Given the description of an element on the screen output the (x, y) to click on. 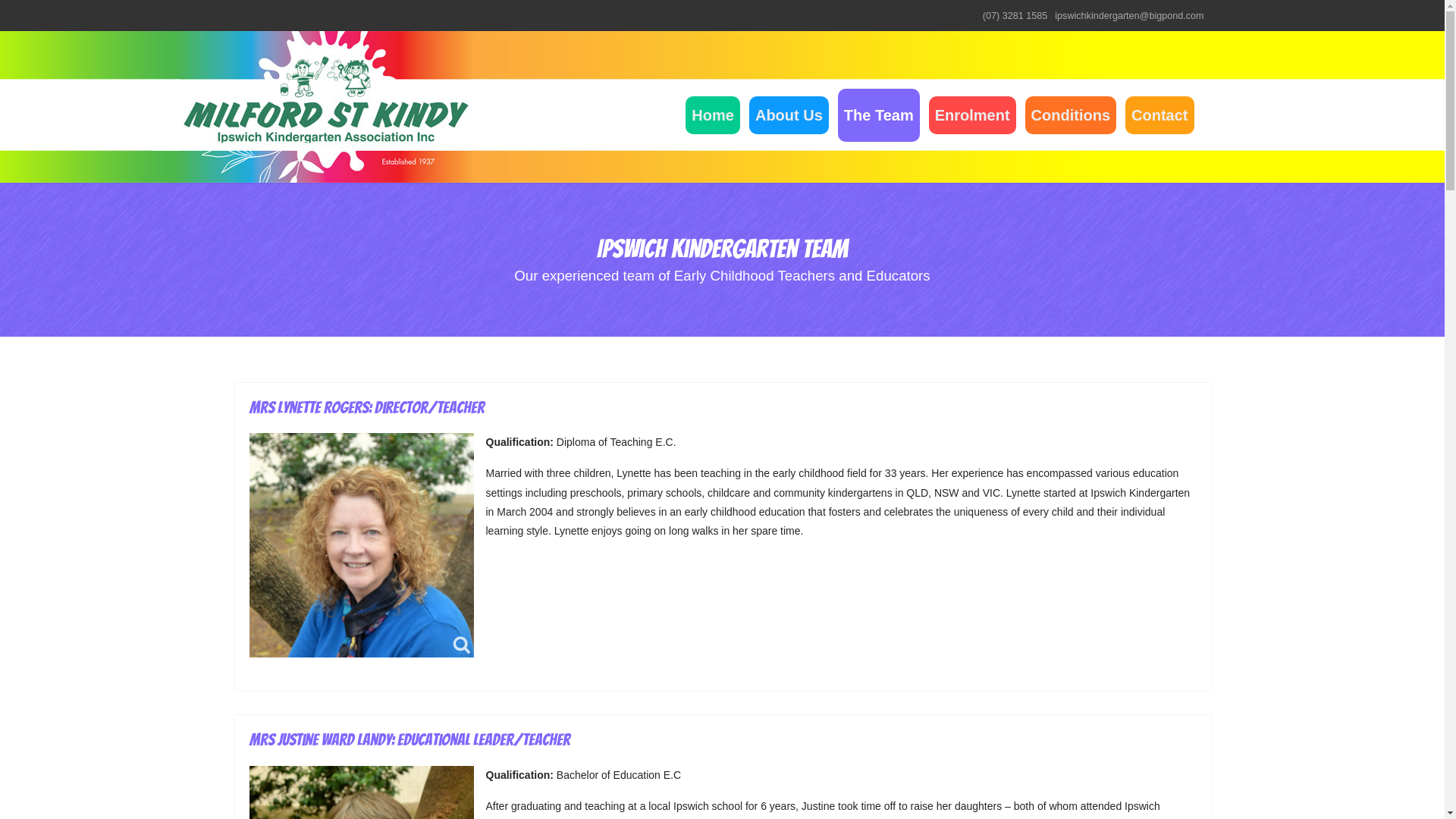
About Us Element type: text (788, 115)
The Team Element type: text (878, 114)
(07) 3281 1585 Element type: text (1014, 15)
Home Element type: text (712, 115)
Conditions Element type: text (1070, 115)
Contact Element type: text (1159, 115)
ipswichkindergarten@bigpond.com Element type: text (1128, 15)
Enrolment Element type: text (972, 115)
